Given the description of an element on the screen output the (x, y) to click on. 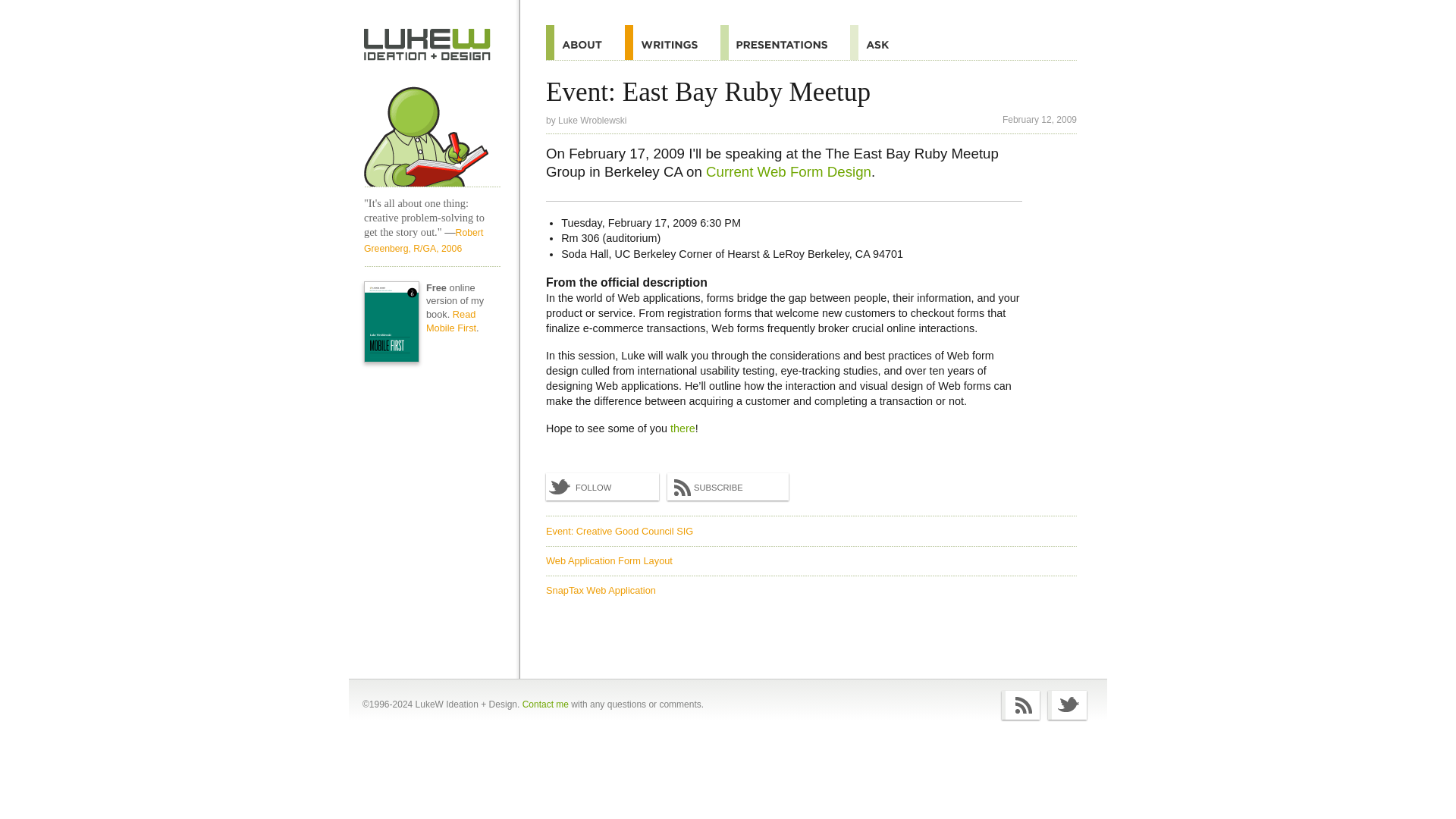
Quotes (672, 42)
Read Mobile First (451, 320)
Home (432, 129)
SnapTax Web Application (601, 590)
Presentations (785, 42)
Current Web Form Design (788, 171)
Event: Creative Good Council SIG (619, 531)
FOLLOW (602, 486)
Subscribe to News (727, 486)
Follow on Twitter (1067, 705)
Luke Wroblewski (591, 120)
Follow on Twitter (602, 486)
Ask (880, 42)
Contact me (545, 704)
Home (427, 44)
